Given the description of an element on the screen output the (x, y) to click on. 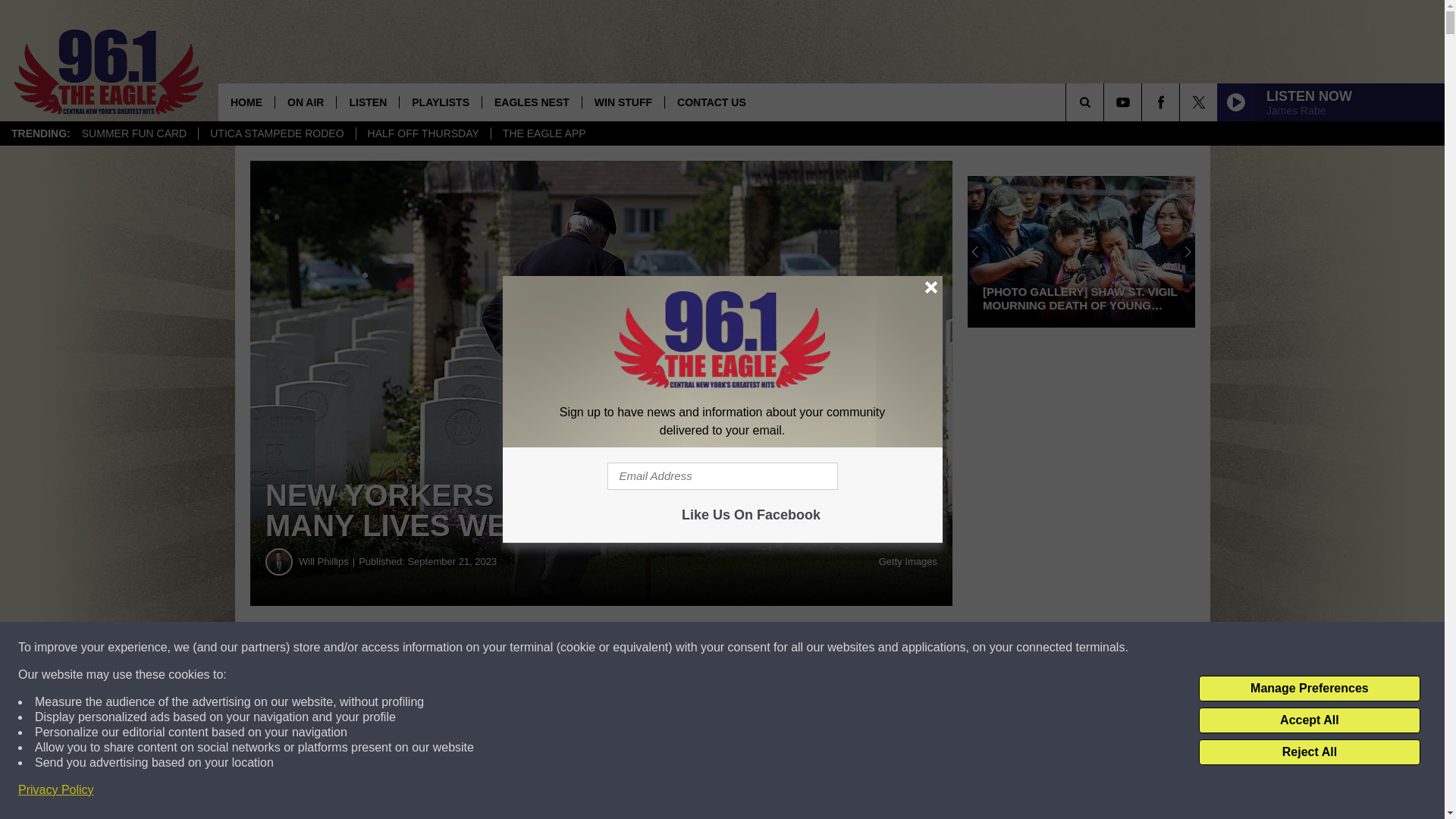
Manage Preferences (1309, 688)
Privacy Policy (55, 789)
LISTEN (367, 102)
ON AIR (305, 102)
SEARCH (1106, 102)
CONTACT US (710, 102)
HALF OFF THURSDAY (422, 133)
WIN STUFF (621, 102)
SEARCH (1106, 102)
UTICA STAMPEDE RODEO (276, 133)
Accept All (1309, 720)
SUMMER FUN CARD (133, 133)
Share on Facebook (460, 647)
Reject All (1309, 751)
PLAYLISTS (439, 102)
